Given the description of an element on the screen output the (x, y) to click on. 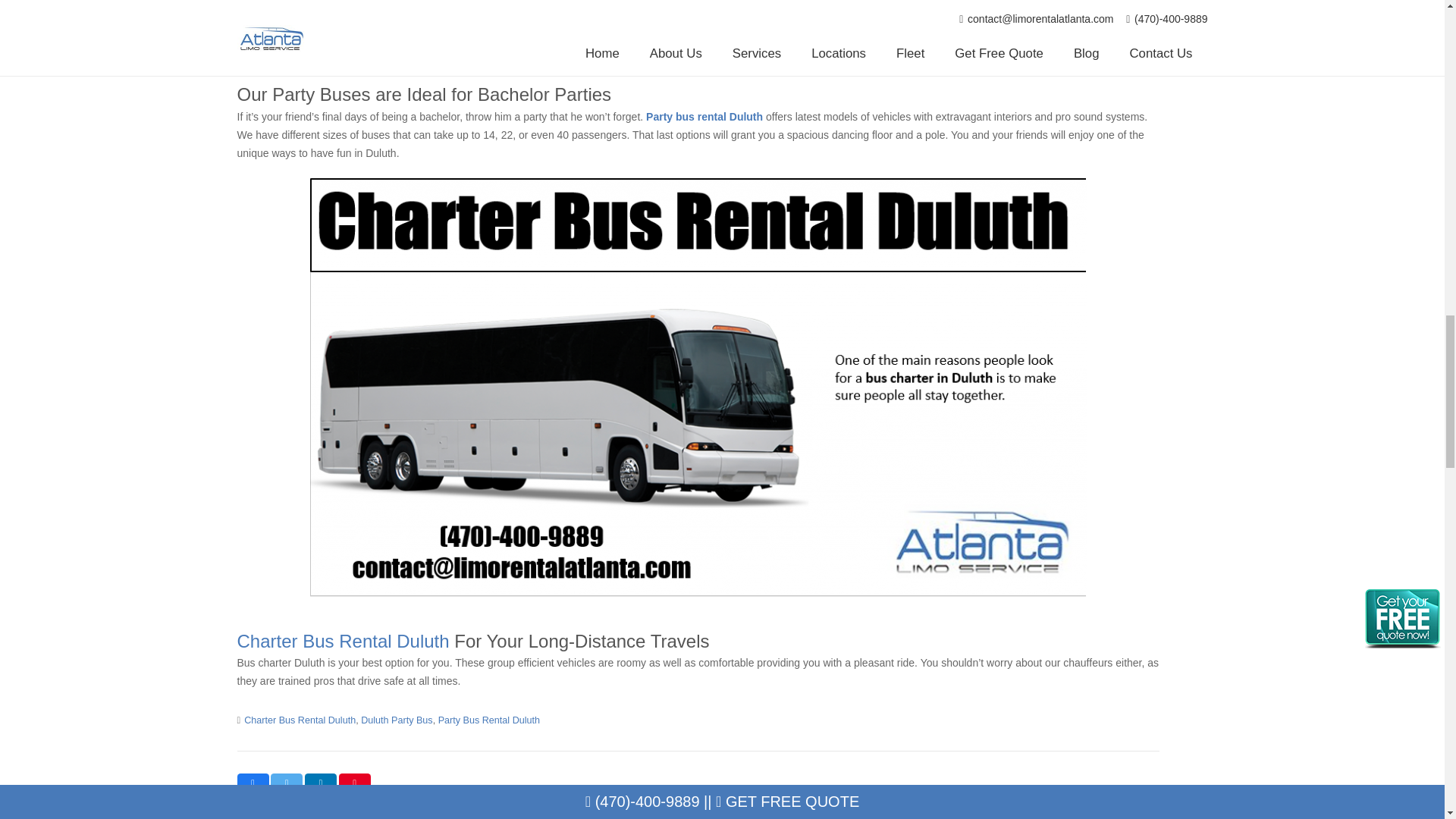
Share this (251, 783)
Charter Bus Rental Duluth (341, 640)
Charter Bus Rental Duluth (299, 719)
Tweet this (286, 783)
Duluth Party Bus (396, 719)
Party bus rental Duluth (704, 116)
Party Bus Rental Duluth (489, 719)
Share this (320, 783)
Pin this (355, 783)
